Given the description of an element on the screen output the (x, y) to click on. 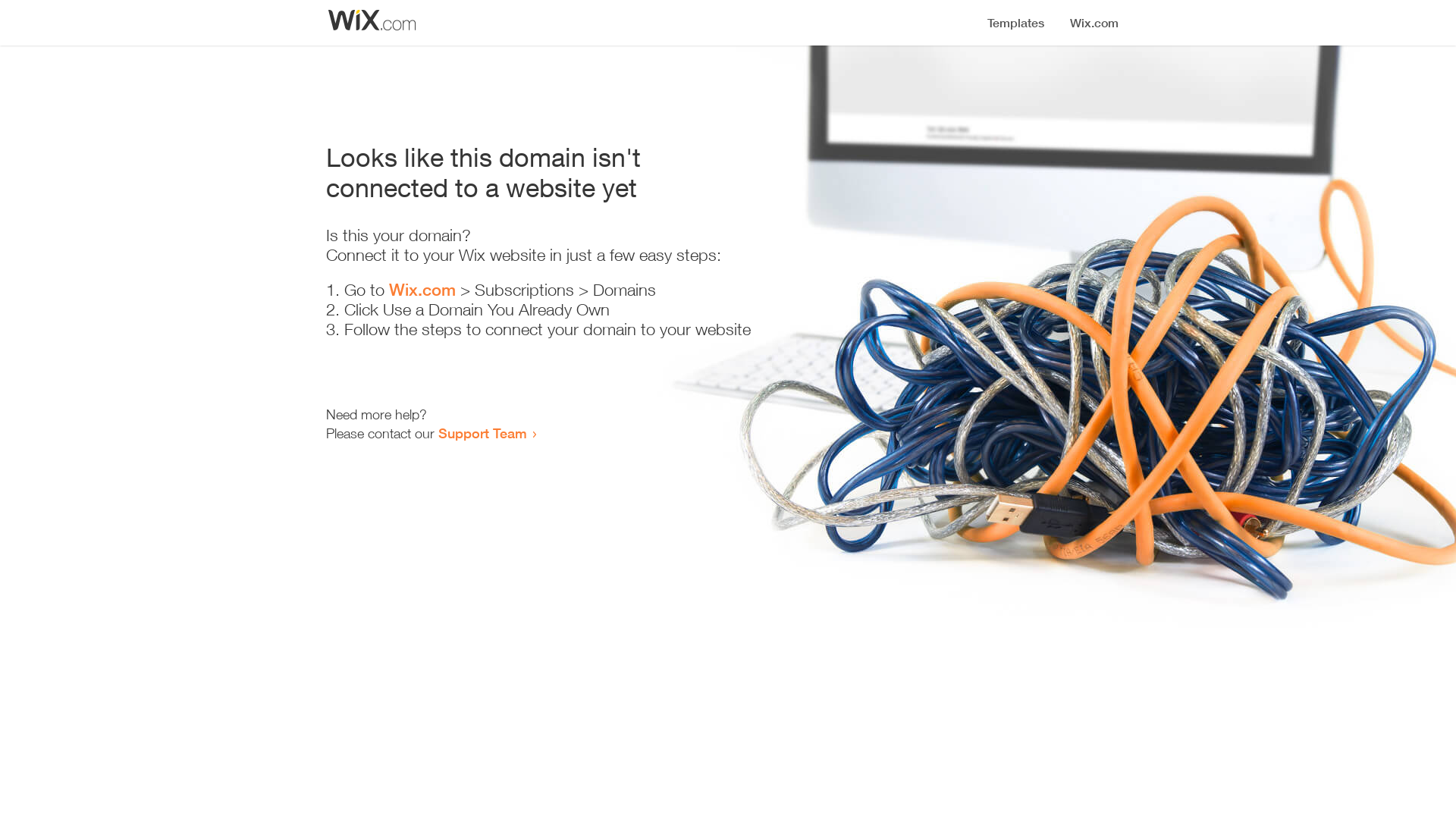
Wix.com Element type: text (422, 289)
Support Team Element type: text (482, 432)
